Given the description of an element on the screen output the (x, y) to click on. 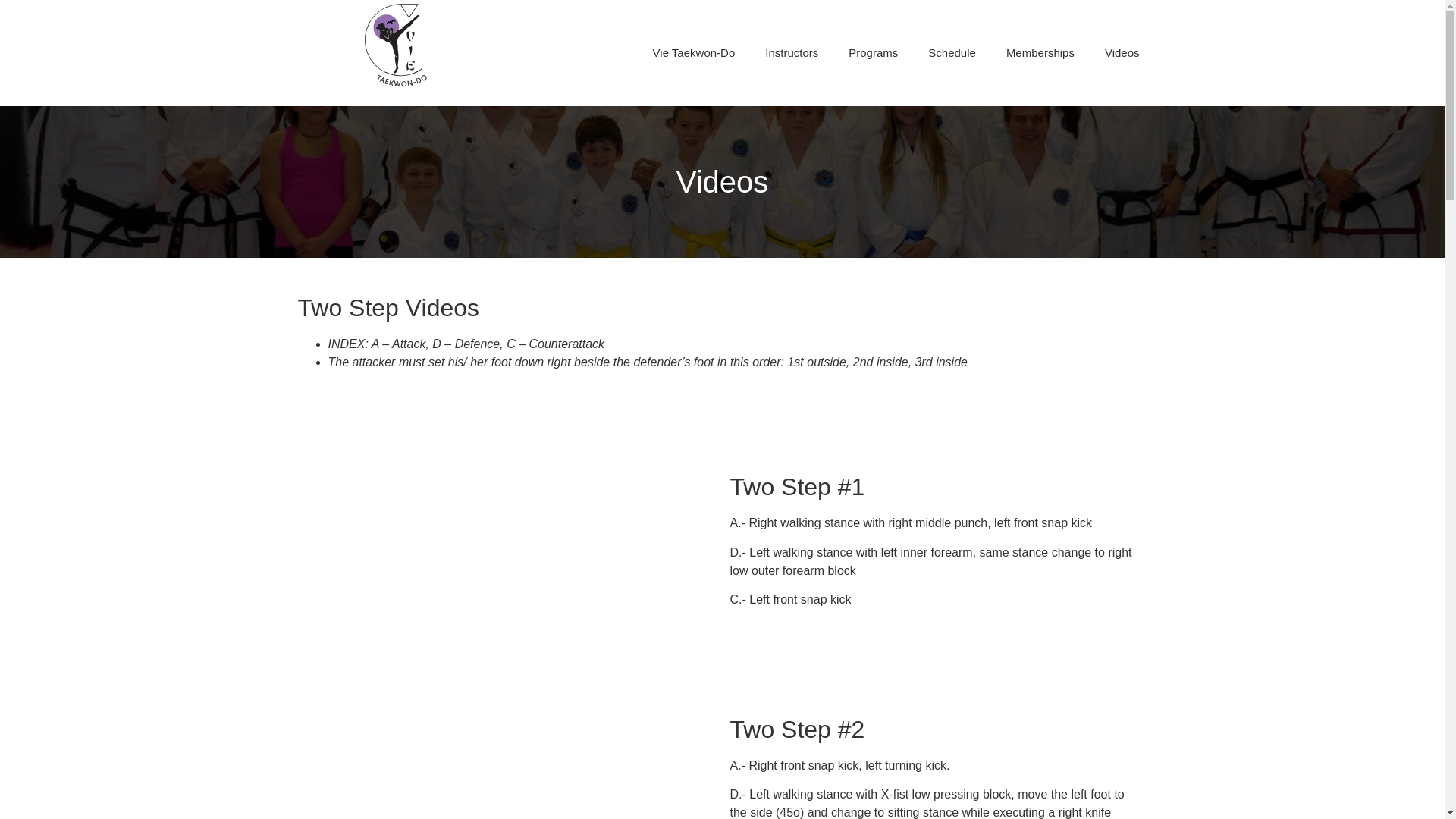
Memberships (1040, 52)
Vie Taekwon-Do (694, 52)
Programs (872, 52)
Instructors (790, 52)
Schedule (951, 52)
Videos (1121, 52)
